Given the description of an element on the screen output the (x, y) to click on. 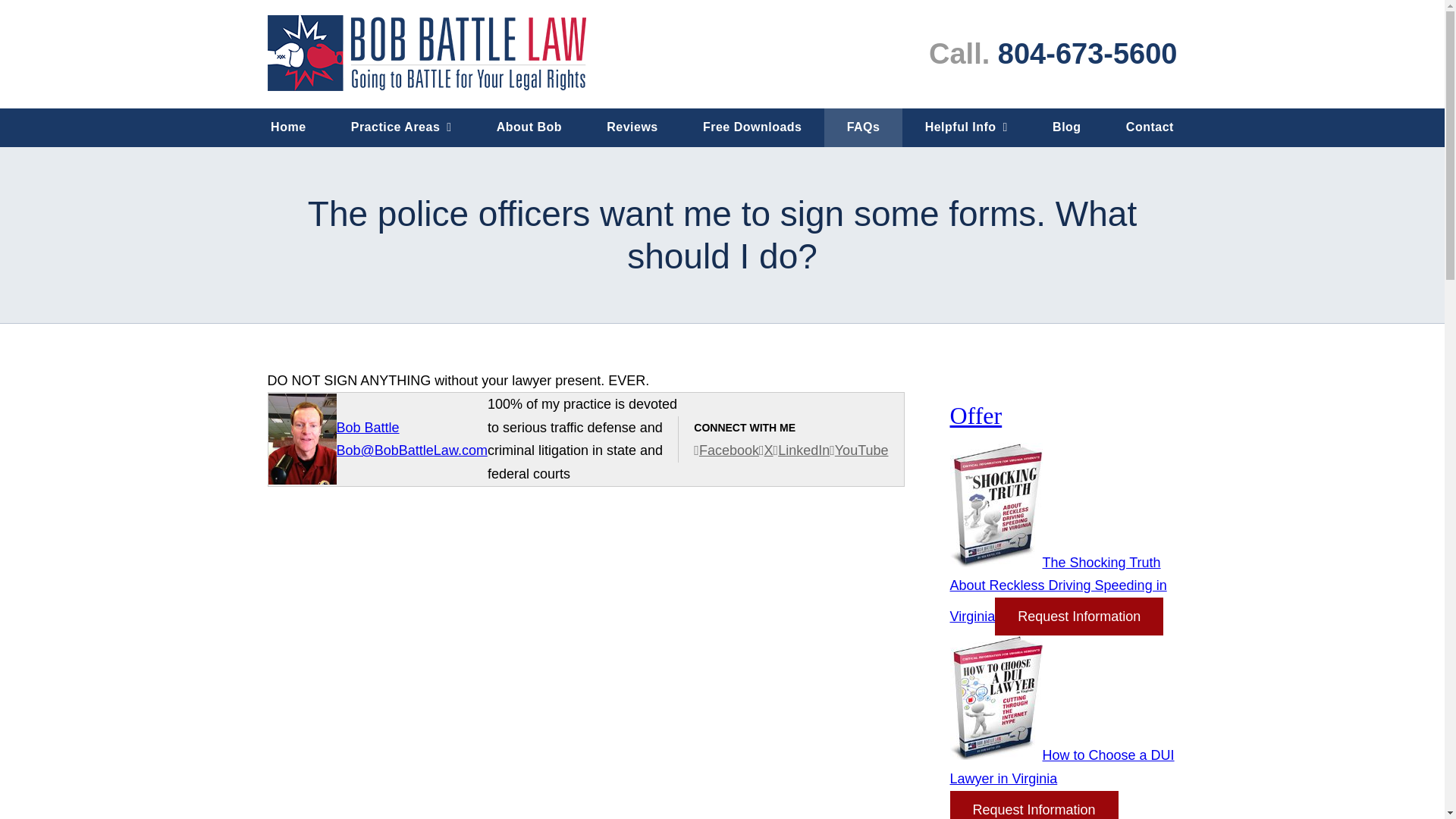
Contact (1149, 127)
Facebook (726, 450)
YouTube (858, 450)
Reviews (633, 127)
Find me on Facebook (726, 450)
Offer (975, 415)
Watch me on YouTube (858, 450)
Bob Battle (367, 427)
Blog (1066, 127)
LinkedIn (801, 450)
